Given the description of an element on the screen output the (x, y) to click on. 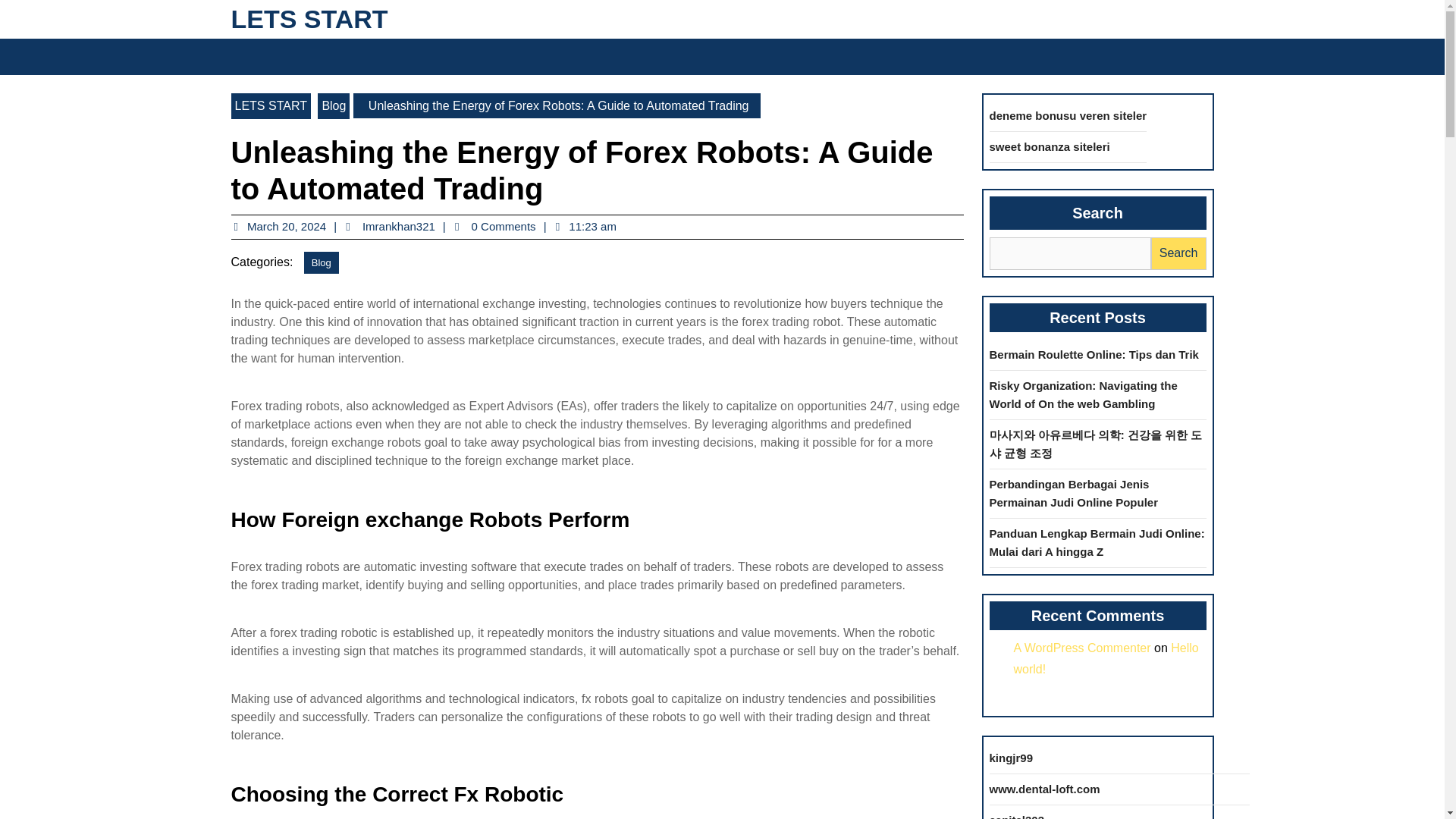
LETS START (270, 105)
A WordPress Commenter (1081, 647)
www.dental-loft.com (1043, 788)
capital303 (1015, 816)
Hello world! (1105, 658)
Search (1033, 56)
LETS START (308, 18)
Search (1179, 253)
Bermain Roulette Online: Tips dan Trik (1093, 353)
Panduan Lengkap Bermain Judi Online: Mulai dari A hingga Z (1096, 541)
deneme bonusu veren siteler (293, 226)
sweet bonanza siteleri (1067, 115)
